Given the description of an element on the screen output the (x, y) to click on. 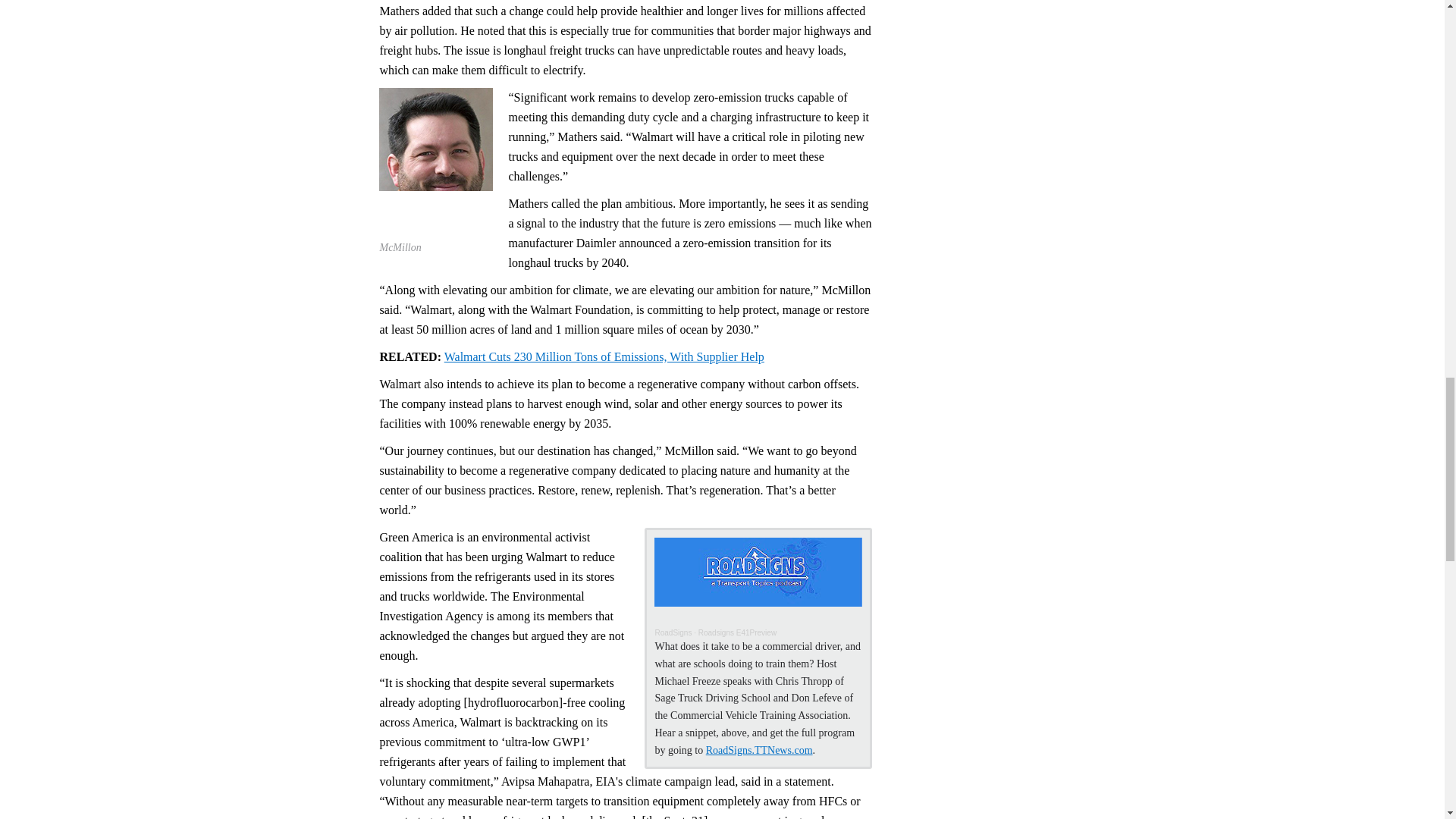
RoadSigns (672, 632)
Roadsigns E41Preview (737, 632)
